Given the description of an element on the screen output the (x, y) to click on. 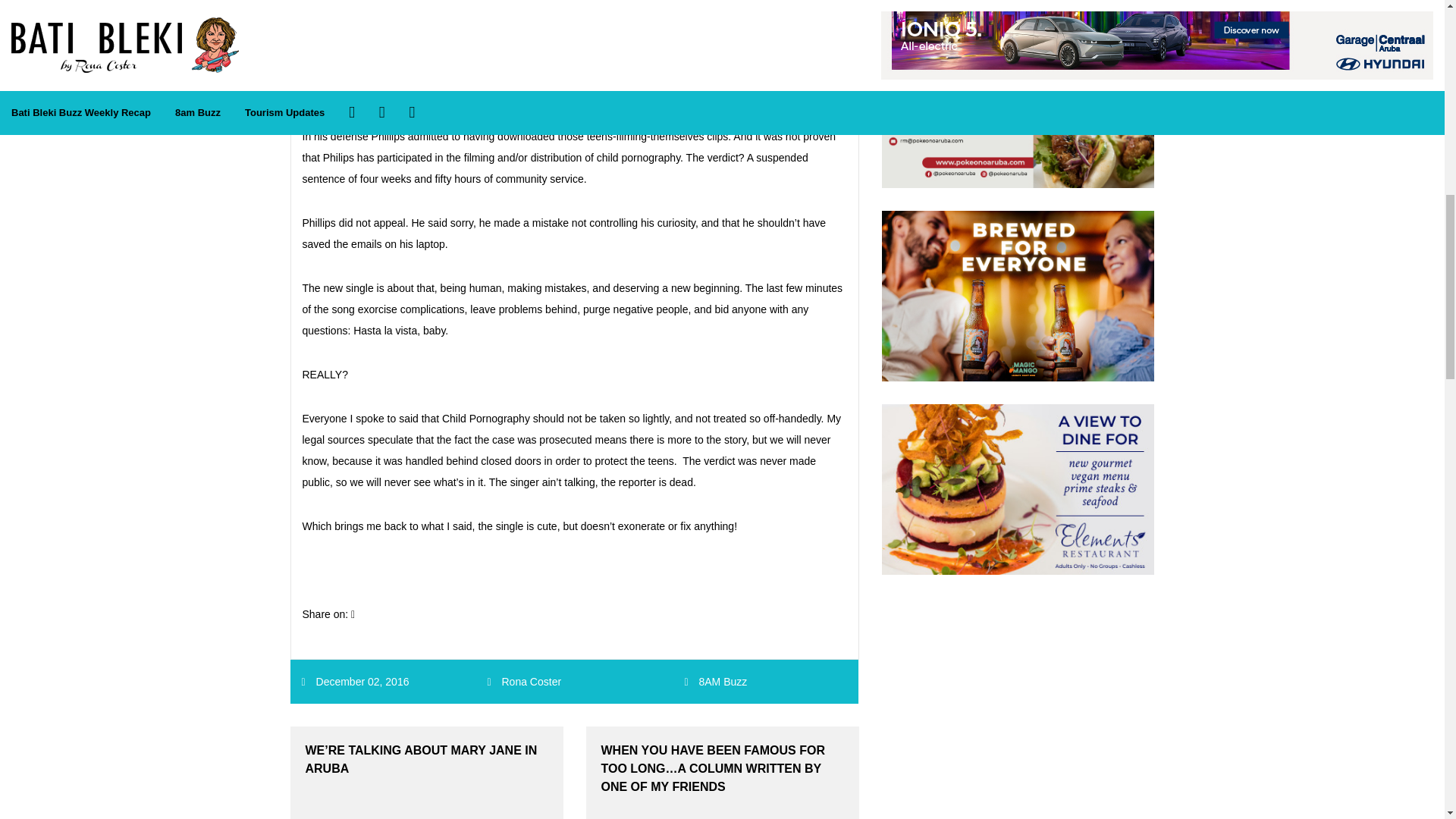
Share on: (328, 613)
8AM Buzz (722, 681)
